Given the description of an element on the screen output the (x, y) to click on. 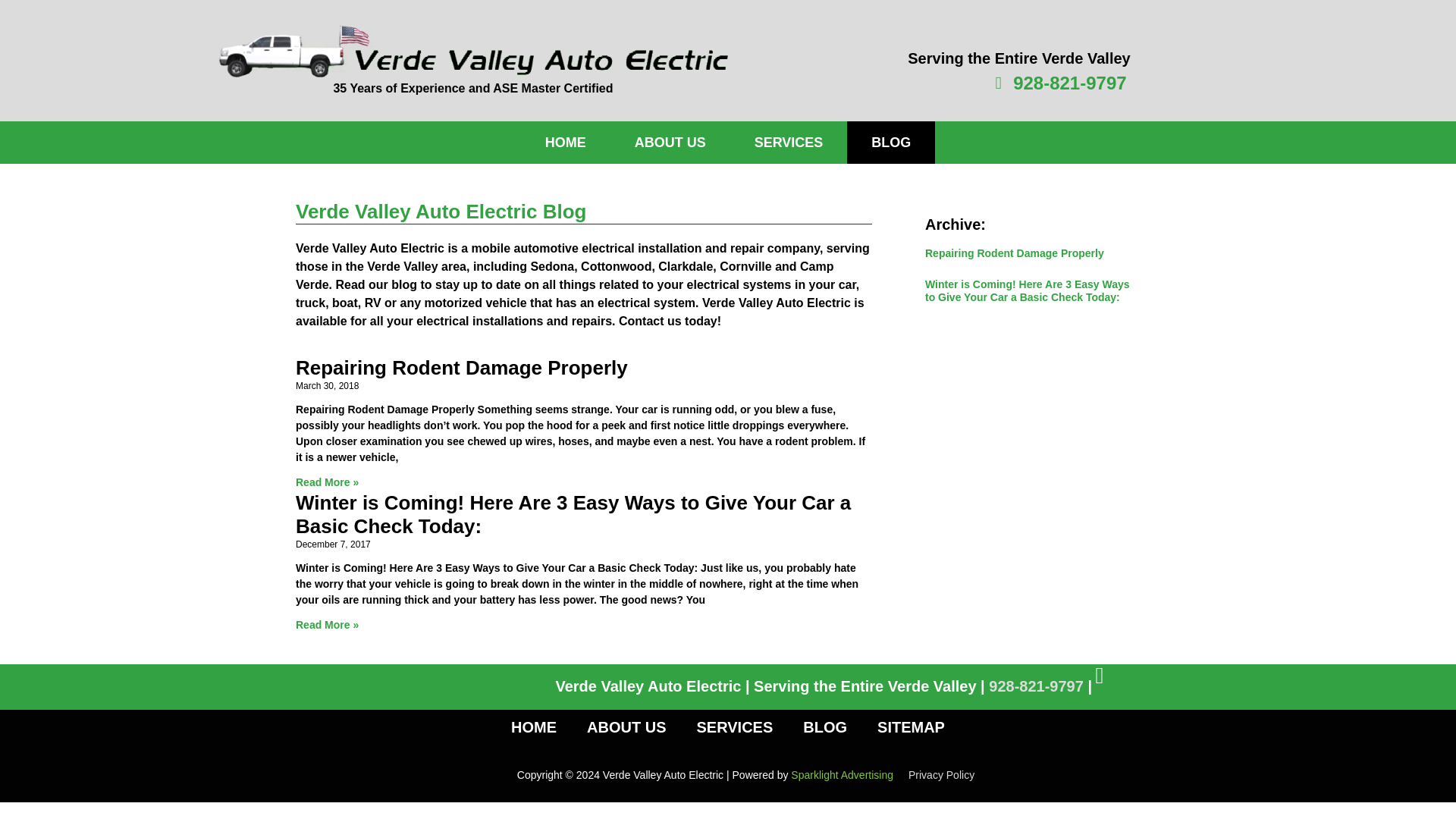
Repairing Rodent Damage Properly (1013, 253)
HOME (534, 727)
HOME (565, 142)
SERVICES (788, 142)
SITEMAP (910, 727)
ABOUT US (626, 727)
BLOG (824, 727)
ABOUT US (670, 142)
Sparklight Advertising (841, 775)
SERVICES (734, 727)
BLOG (890, 142)
Privacy Policy (941, 775)
Repairing Rodent Damage Properly (461, 367)
928-821-9797 (1035, 686)
